Given the description of an element on the screen output the (x, y) to click on. 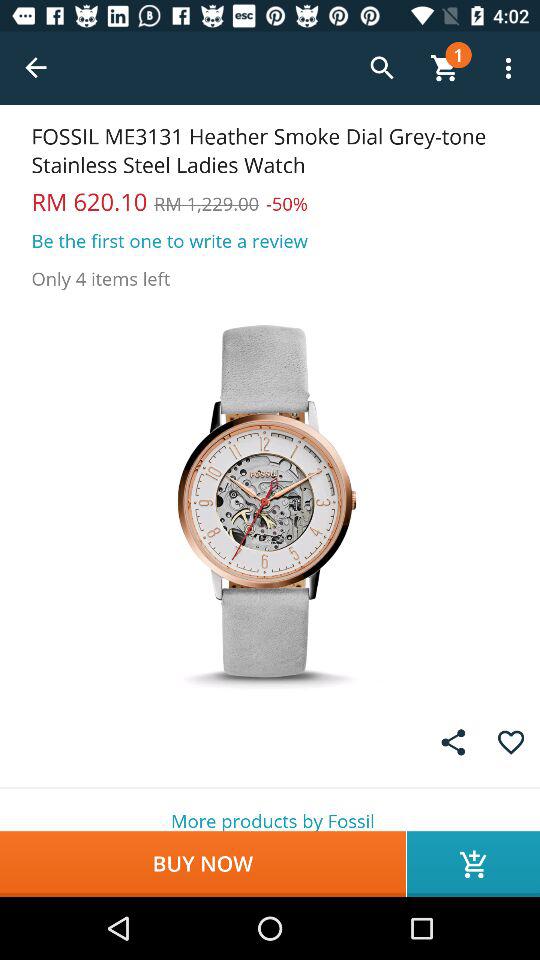
share the product (453, 742)
